Given the description of an element on the screen output the (x, y) to click on. 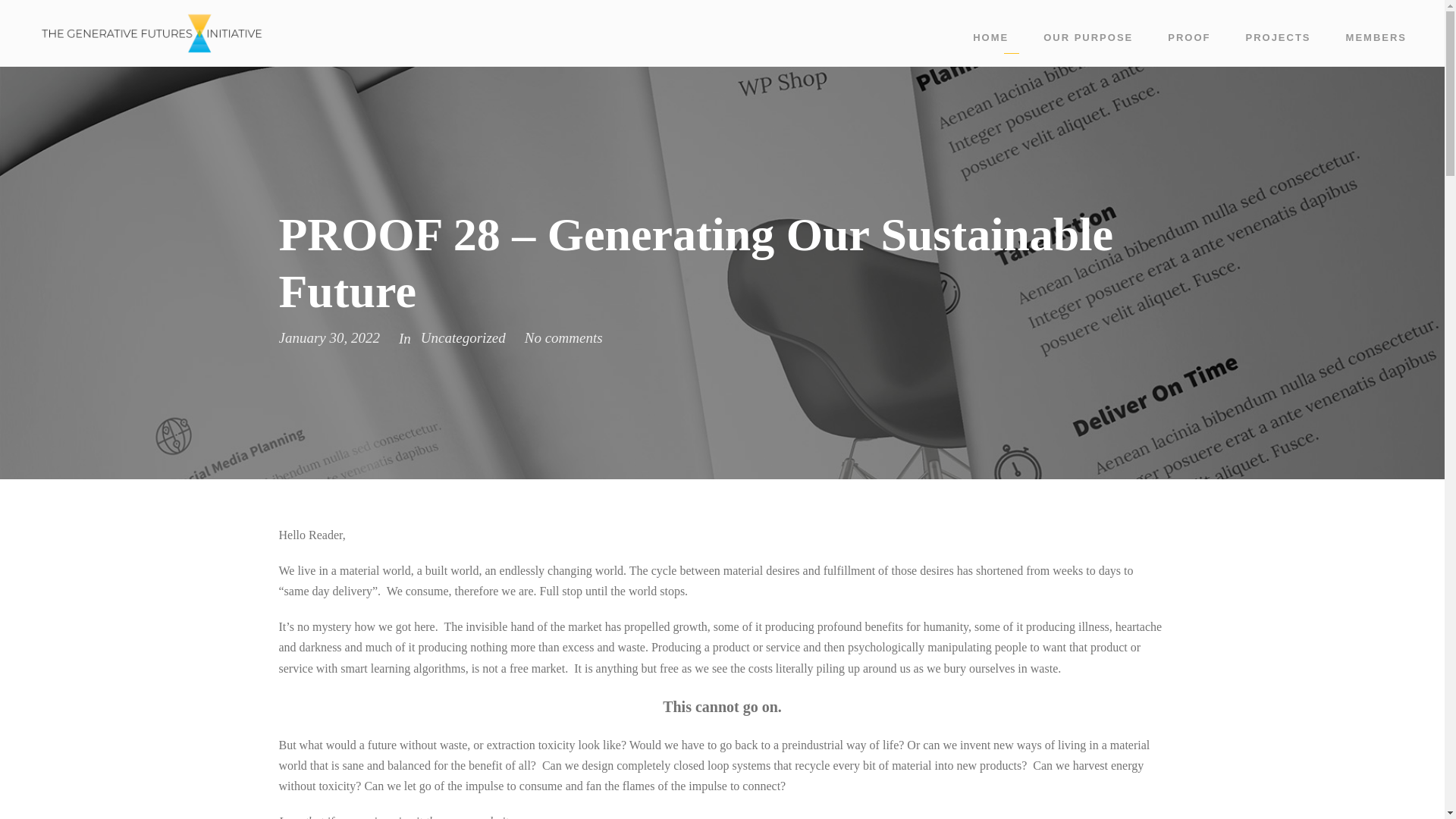
PROOF (1188, 41)
Uncategorized (462, 337)
OUR PURPOSE (1087, 41)
MEMBERS (1375, 41)
HOME (990, 41)
January 30, 2022 (329, 337)
PROJECTS (1277, 41)
No comments (563, 337)
